Given the description of an element on the screen output the (x, y) to click on. 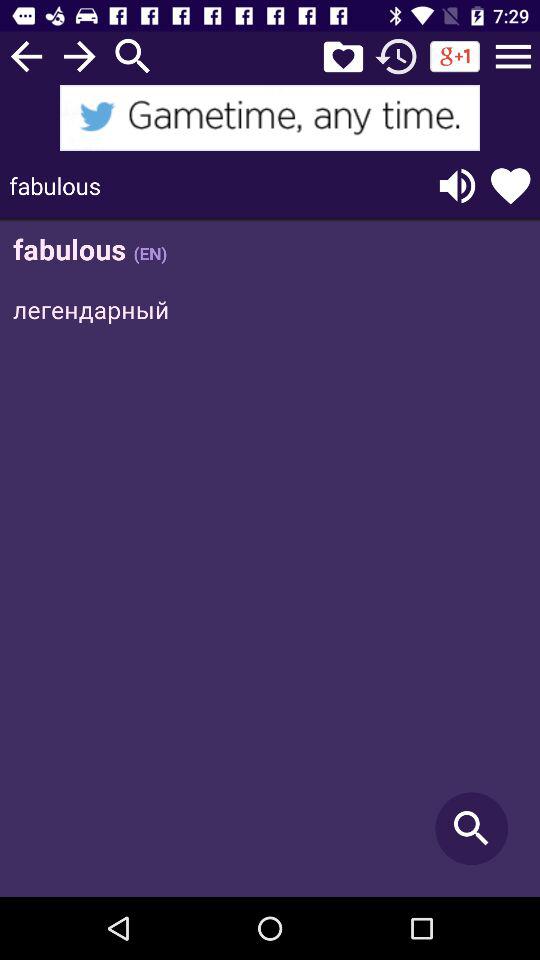
go to favorite (343, 56)
